Given the description of an element on the screen output the (x, y) to click on. 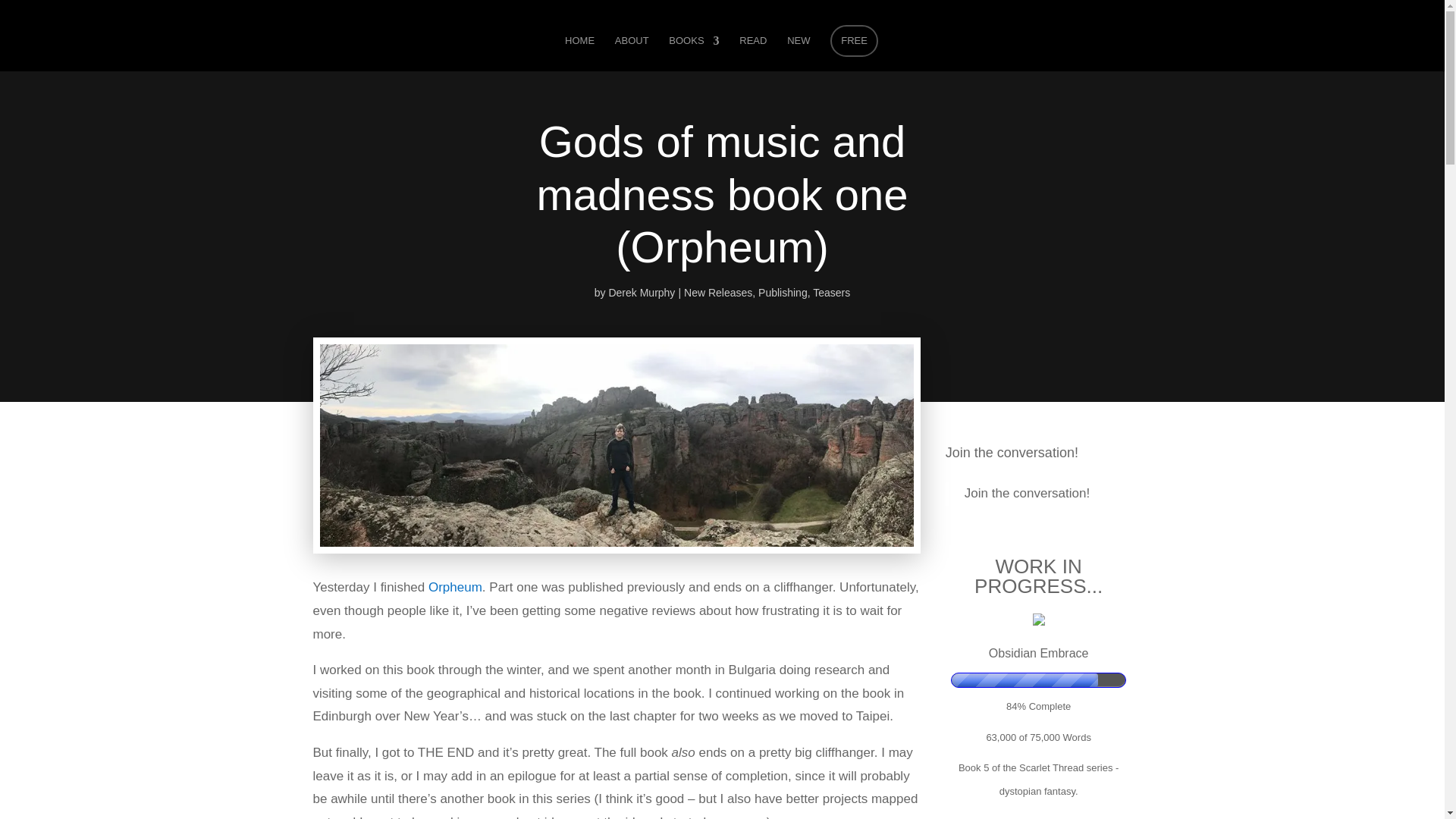
Publishing (783, 292)
Join the conversation! (1011, 452)
Teasers (831, 292)
Orpheum (454, 586)
FREE (853, 40)
Join the conversation! (1026, 493)
ABOUT (631, 53)
Posts by Derek Murphy (641, 292)
Derek Murphy (641, 292)
BOOKS (693, 53)
